Given the description of an element on the screen output the (x, y) to click on. 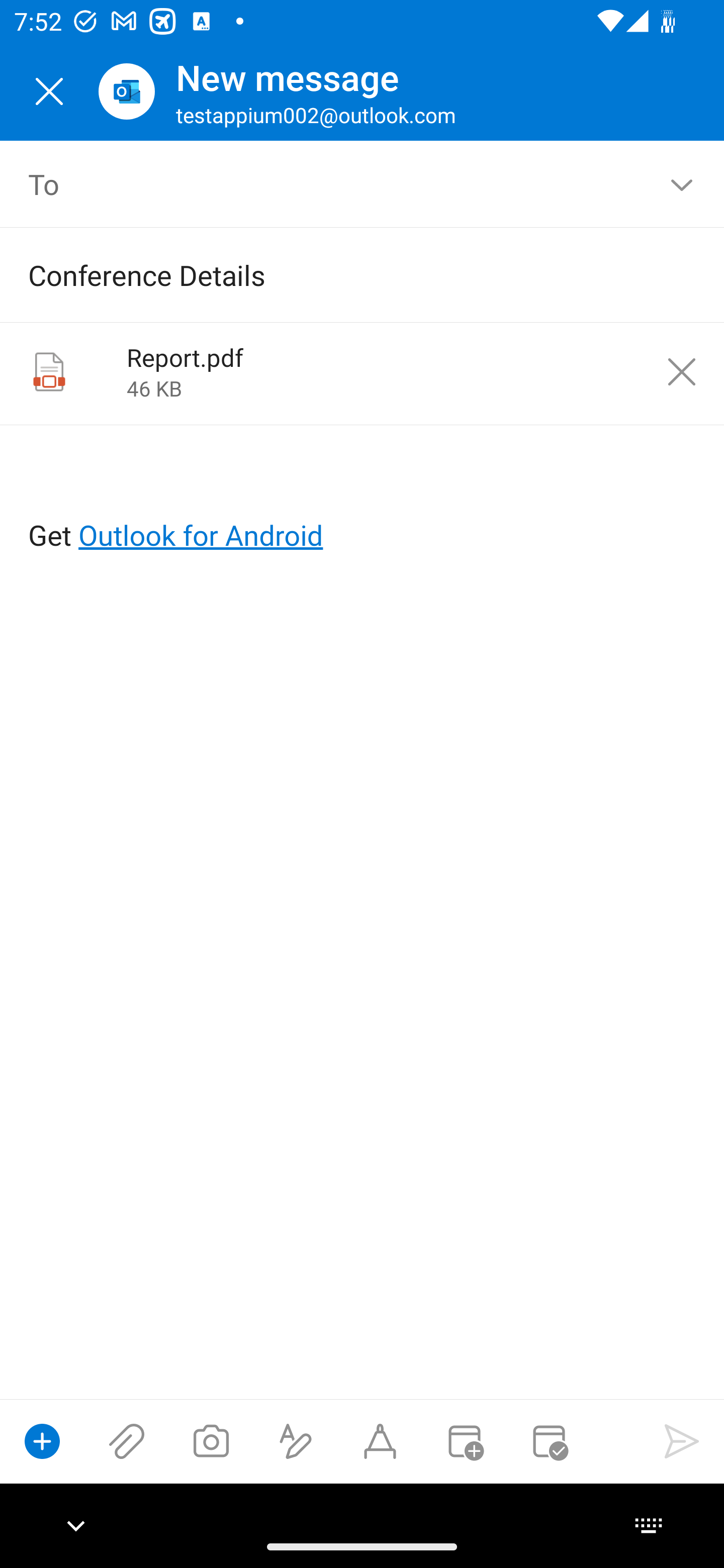
Close (49, 91)
Conference Details (333, 274)
Report.pdf 46 KB Remove attachment Report.pdf (362, 373)
Remove attachment Report.pdf (681, 372)


Get Outlook for Android (363, 502)
Show compose options (42, 1440)
Attach files (126, 1440)
Take a photo (210, 1440)
Show formatting options (295, 1440)
Start Ink compose (380, 1440)
Convert to event (464, 1440)
Send availability (548, 1440)
Send (681, 1440)
